Given the description of an element on the screen output the (x, y) to click on. 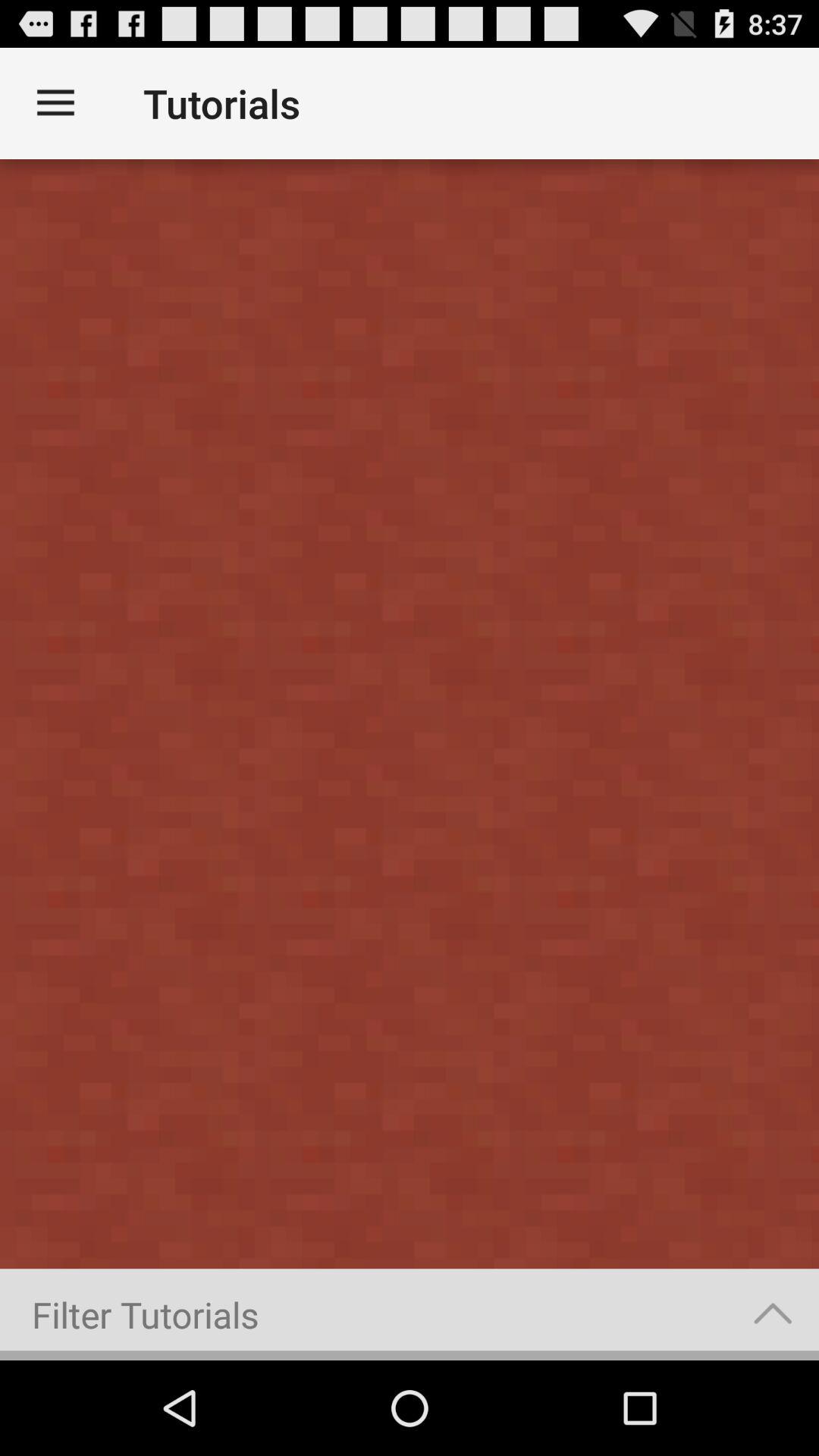
select item above the filter tutorials item (409, 713)
